Given the description of an element on the screen output the (x, y) to click on. 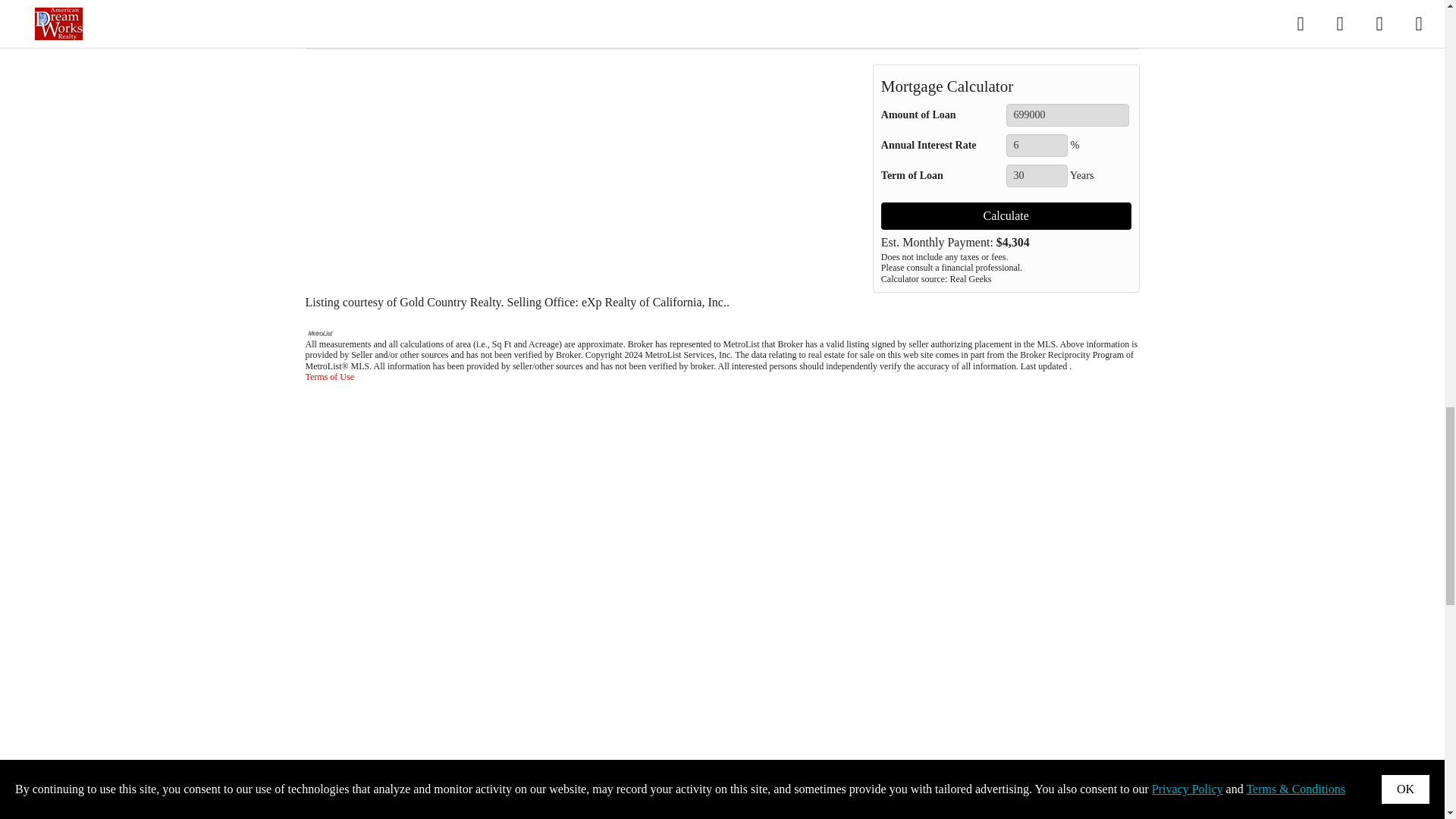
30 (1036, 175)
6 (1036, 145)
699000 (1067, 115)
